Given the description of an element on the screen output the (x, y) to click on. 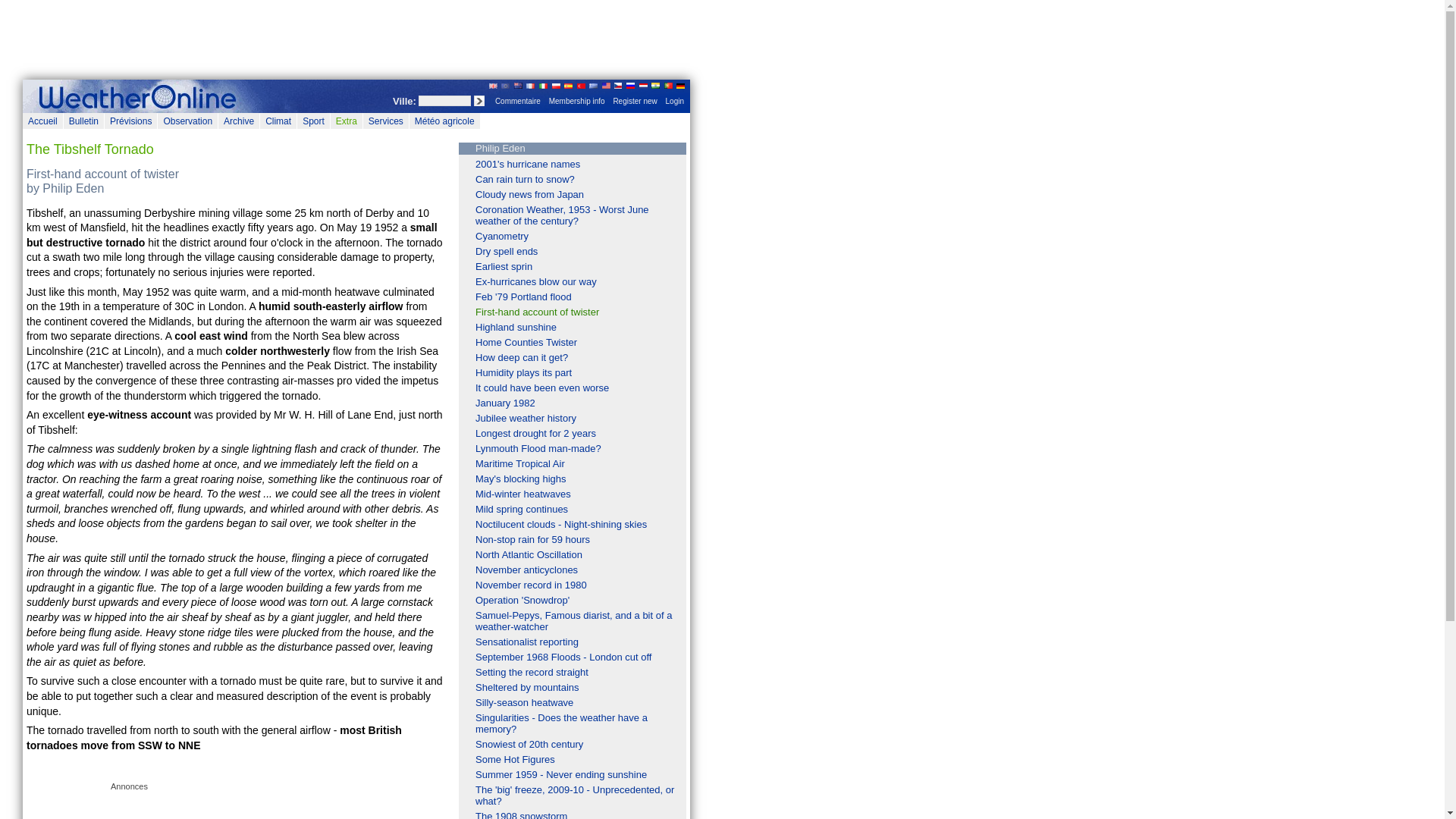
previsione Italia woitalia (542, 85)
weather forecast New Zealand WeatherOnline (517, 85)
wofrance (140, 96)
prognoza pogody Polska WeatherOnline (555, 85)
Bulletin (83, 121)
weather forecast United Kingdom WeatherOnline (493, 85)
weather forecast USA WeatherOnline (606, 85)
Commentaire (517, 101)
Accueil (42, 121)
Weersverwachting Nederland WeatherOnline (643, 85)
weather forecast Europe WeatherOnline (504, 85)
weather forecast India WeatherOnline (654, 85)
Wettervorhersage Deutschland WeatherOnline (680, 85)
Membership info (577, 101)
Register new (634, 101)
